Given the description of an element on the screen output the (x, y) to click on. 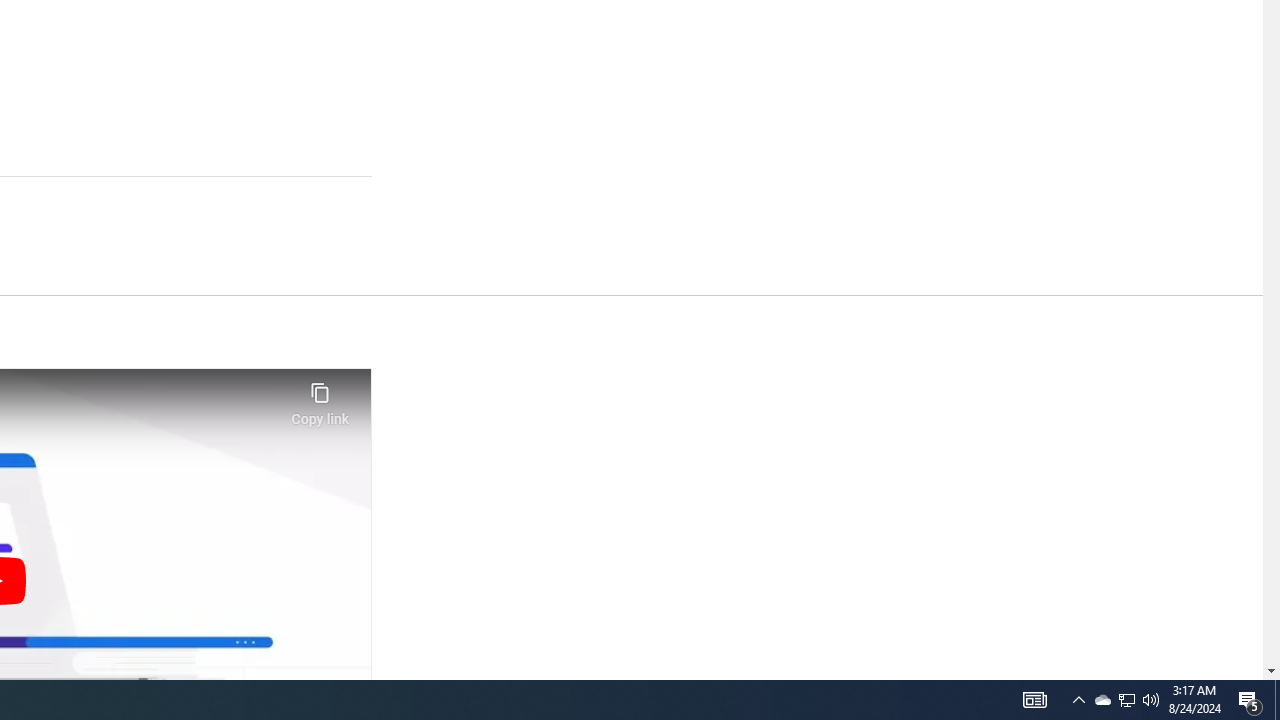
Copy link (319, 398)
